Given the description of an element on the screen output the (x, y) to click on. 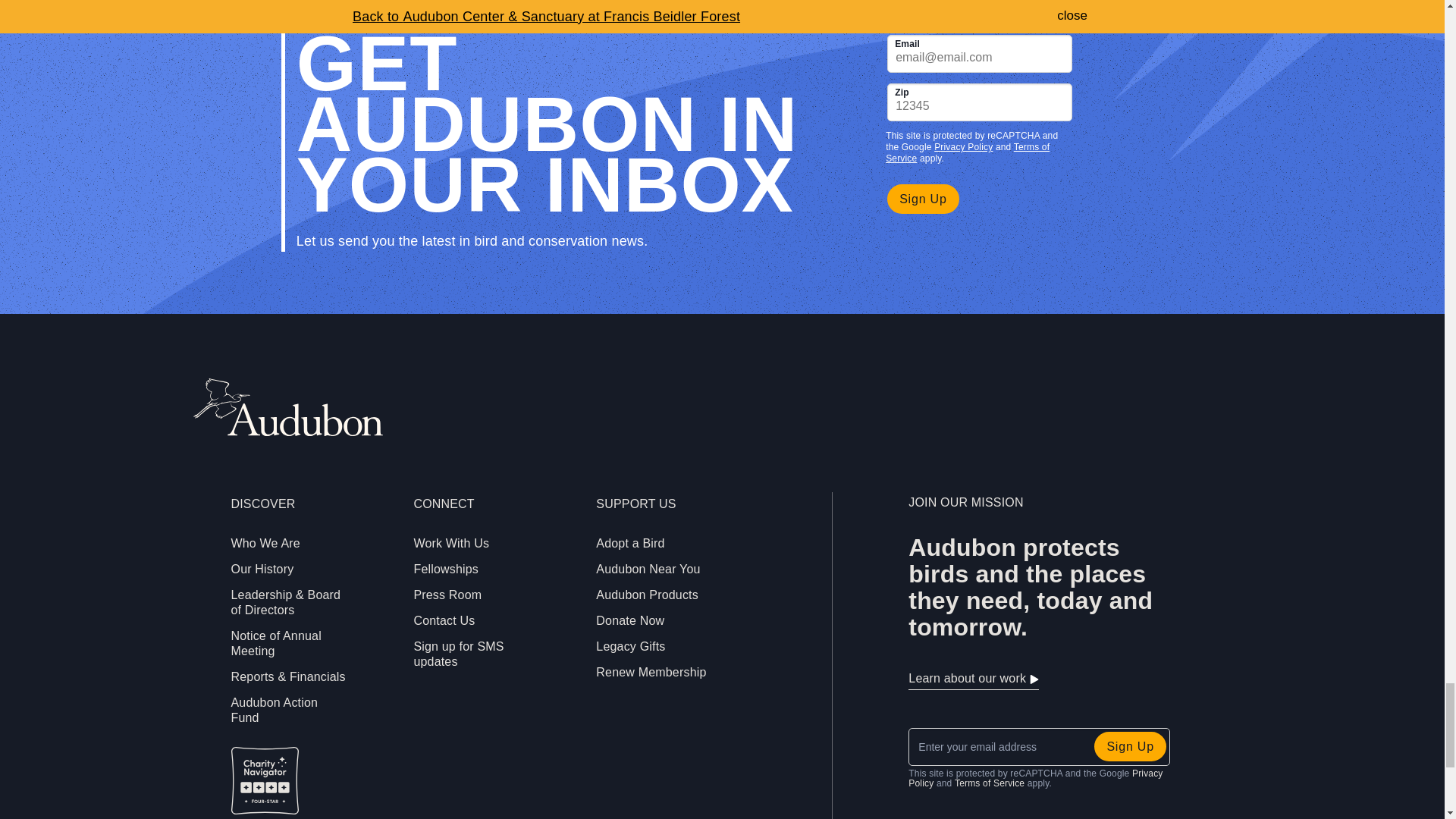
Sign Up (1130, 746)
Sign Up (922, 198)
